Given the description of an element on the screen output the (x, y) to click on. 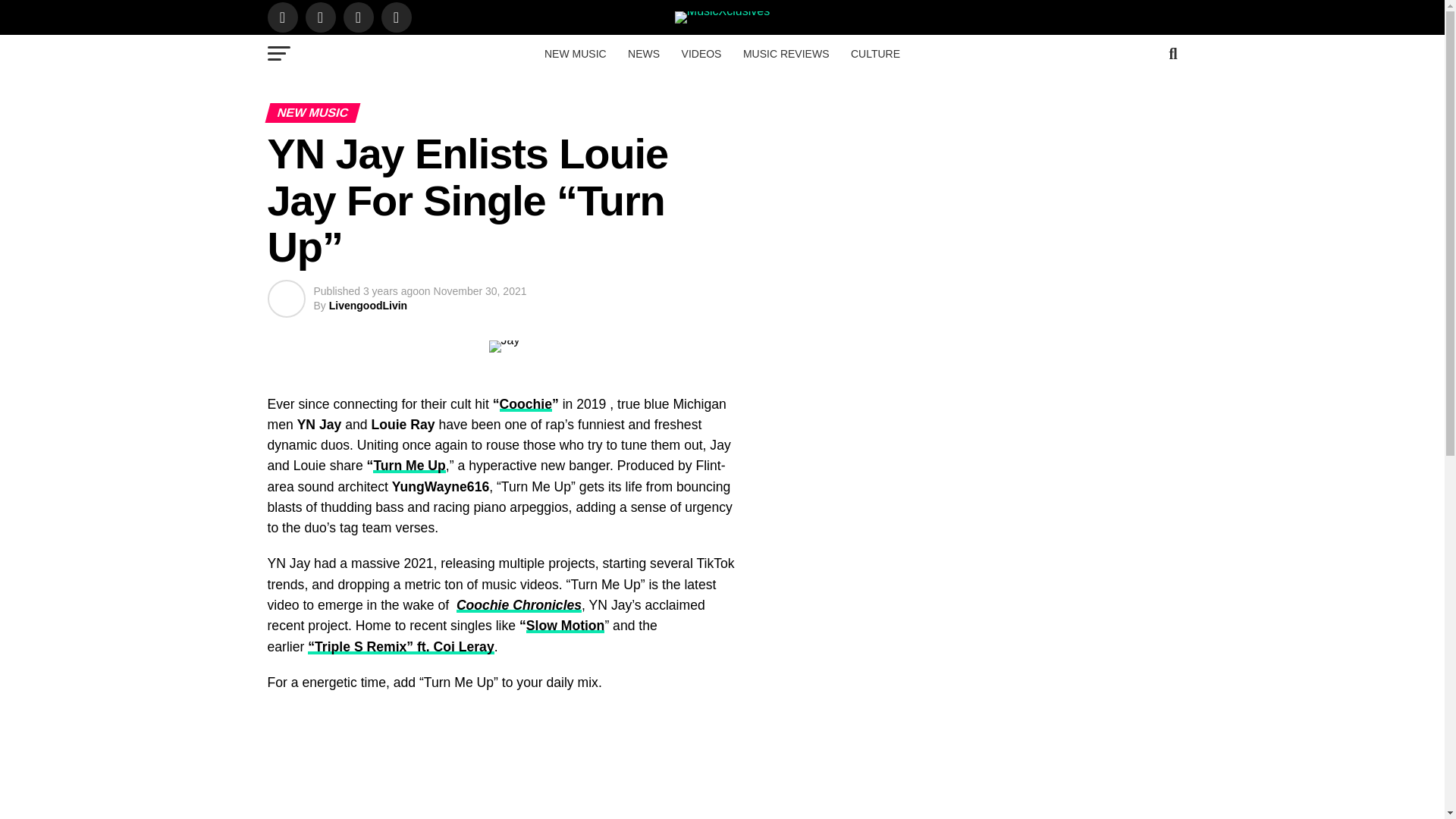
VIDEOS (701, 53)
NEWS (643, 53)
NEW MUSIC (575, 53)
MUSIC REVIEWS (785, 53)
Posts by LivengoodLivin (368, 305)
